Given the description of an element on the screen output the (x, y) to click on. 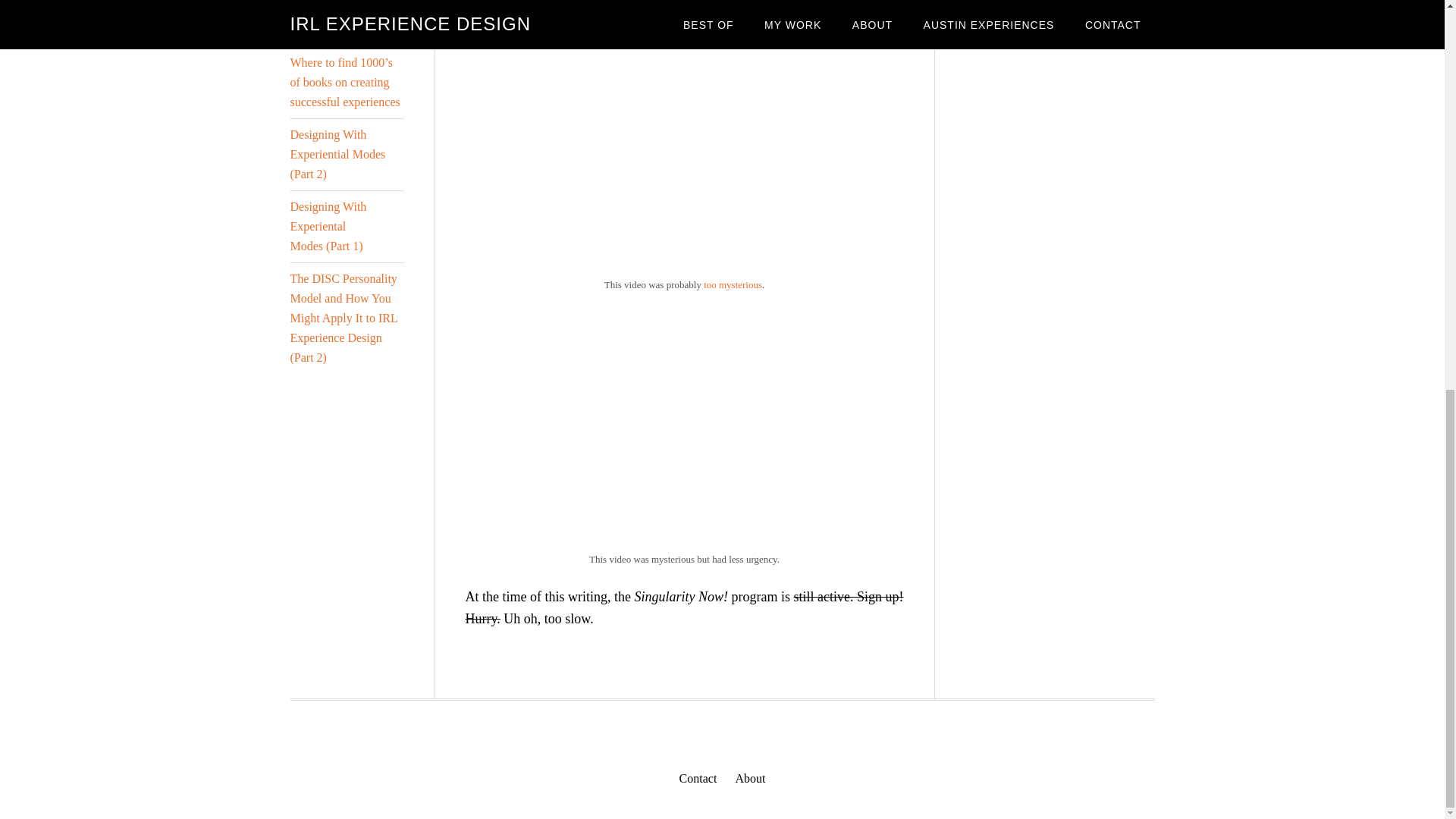
Rabbits For Sale (654, 157)
What is the Singularity? (654, 432)
too mysterious (732, 284)
